Given the description of an element on the screen output the (x, y) to click on. 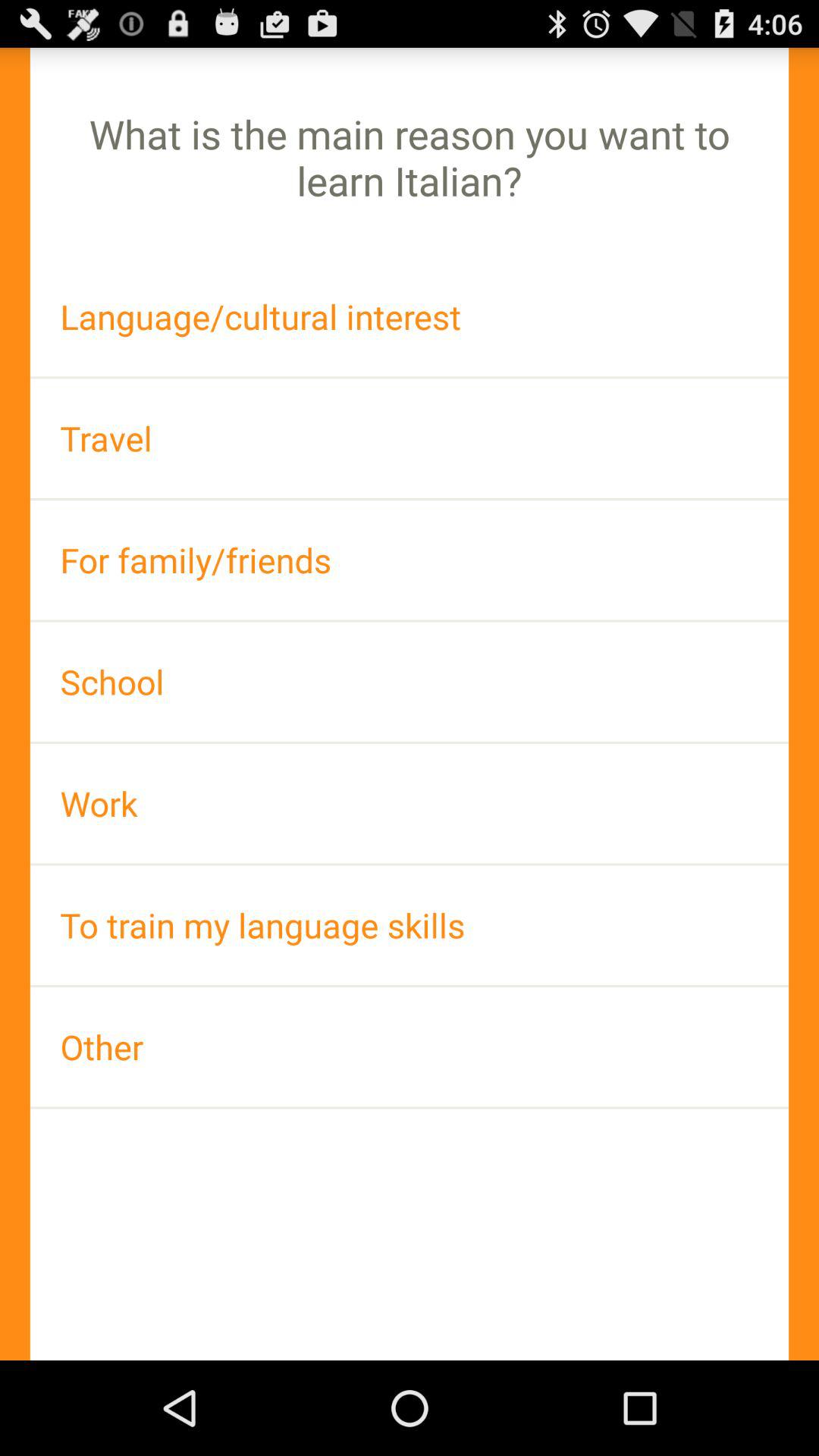
launch icon above the travel icon (409, 316)
